Given the description of an element on the screen output the (x, y) to click on. 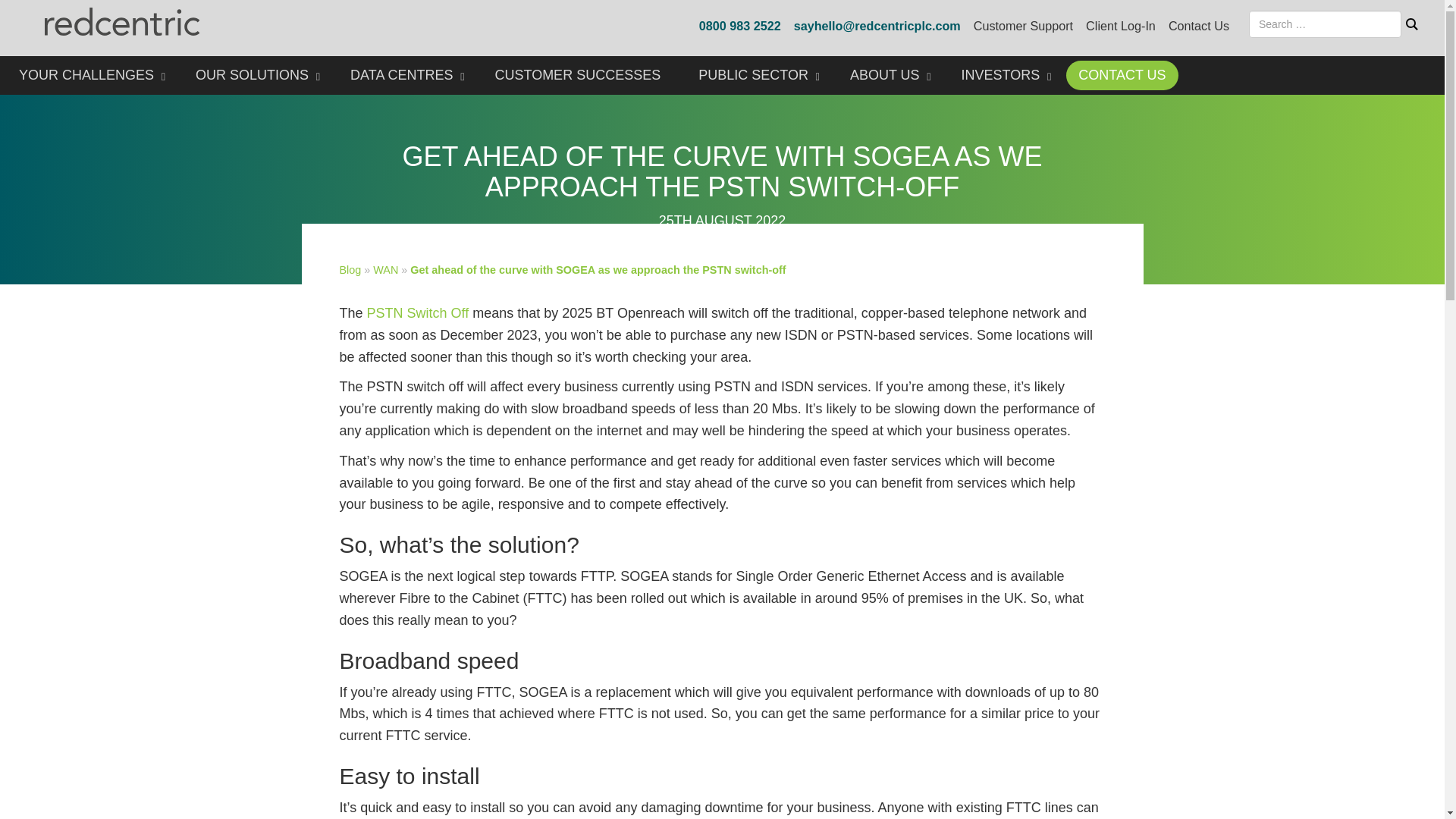
Customer Support (1023, 25)
OUR SOLUTIONS (253, 75)
Search (1412, 24)
Client Log-In (1121, 25)
Contact Us (1198, 25)
0800 983 2522 (739, 25)
